Given the description of an element on the screen output the (x, y) to click on. 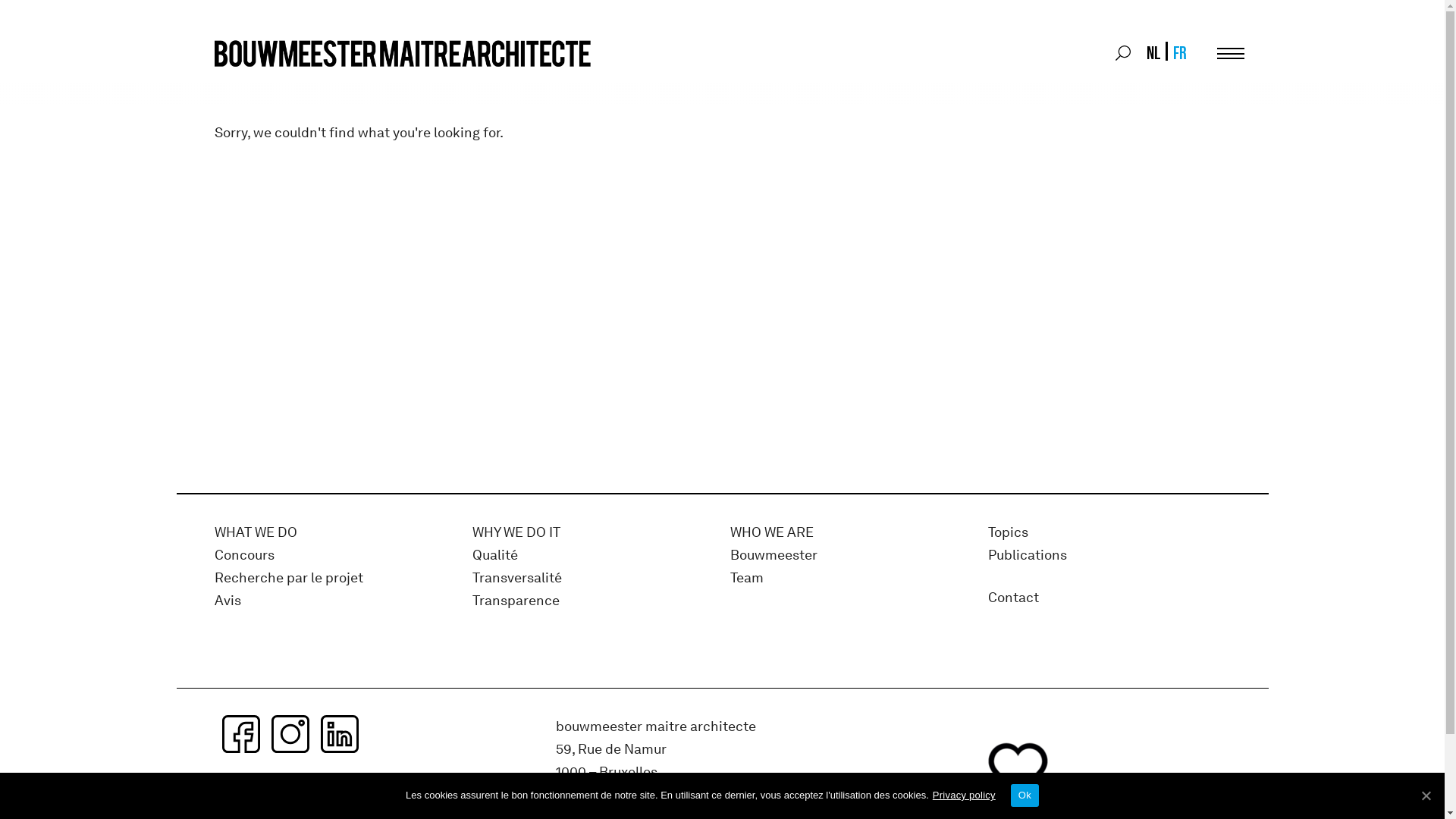
WHY WE DO IT Element type: text (515, 532)
Privacy policy Element type: text (963, 795)
WHO WE ARE Element type: text (770, 532)
FR Element type: text (1177, 52)
NL Element type: text (1152, 52)
WHAT WE DO Element type: text (254, 532)
Topics Element type: text (1007, 532)
Publications Element type: text (1026, 555)
Search Element type: text (1122, 52)
Menu Element type: text (1229, 52)
Ok Element type: text (1024, 795)
Contact Element type: text (1012, 597)
Transparence Element type: text (514, 601)
linkedin Element type: hover (338, 734)
Avis Element type: text (226, 601)
facebook Element type: hover (240, 734)
Bouwmeester Element type: text (772, 555)
Team Element type: text (745, 578)
bma Element type: text (406, 52)
Concours Element type: text (243, 555)
Recherche par le projet Element type: text (287, 578)
instagram Element type: hover (290, 734)
